Given the description of an element on the screen output the (x, y) to click on. 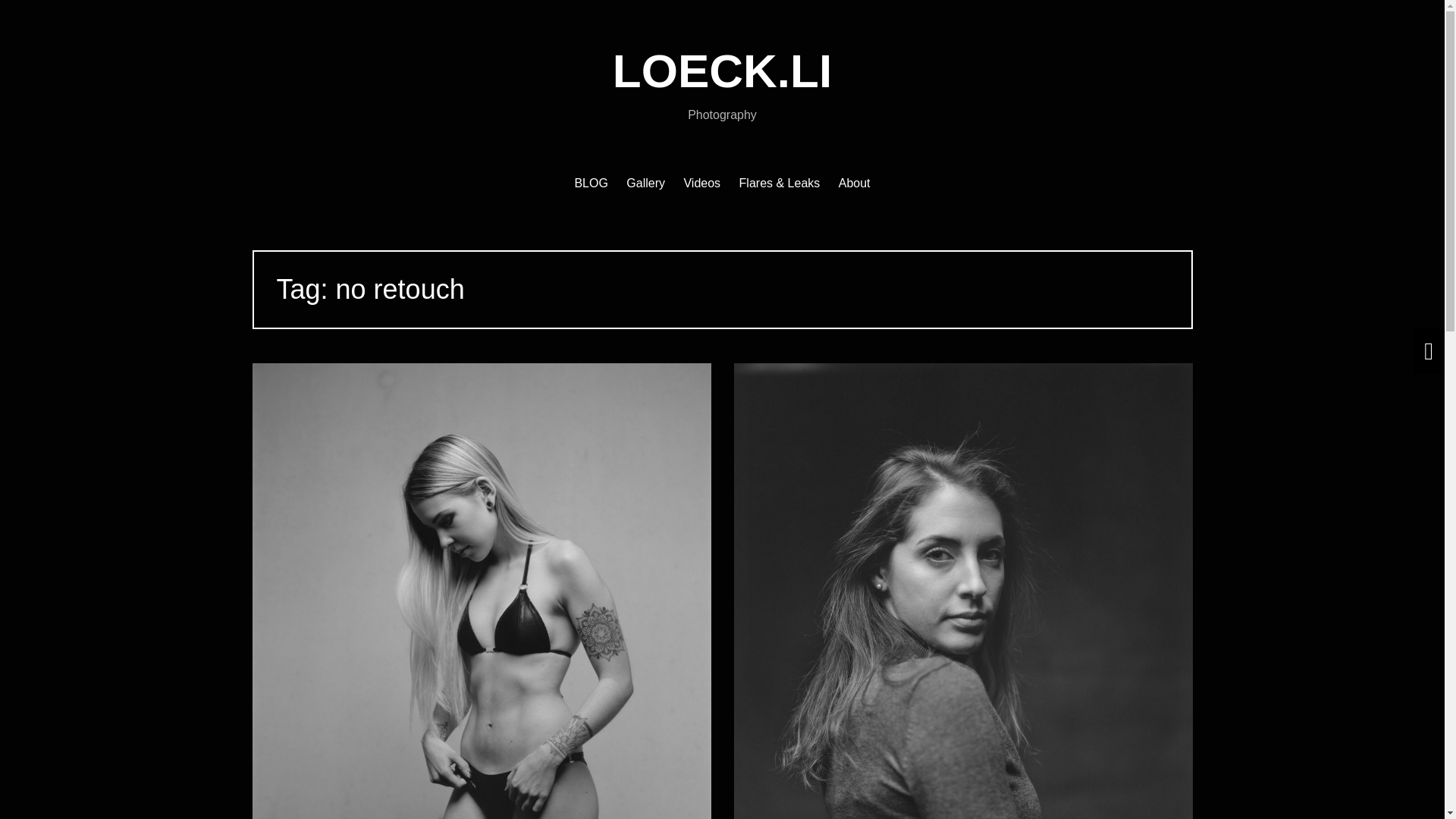
Gallery (645, 183)
About (854, 183)
LOECK.LI (721, 71)
Videos (701, 183)
Nikol on film (962, 644)
BLOG (590, 183)
